Given the description of an element on the screen output the (x, y) to click on. 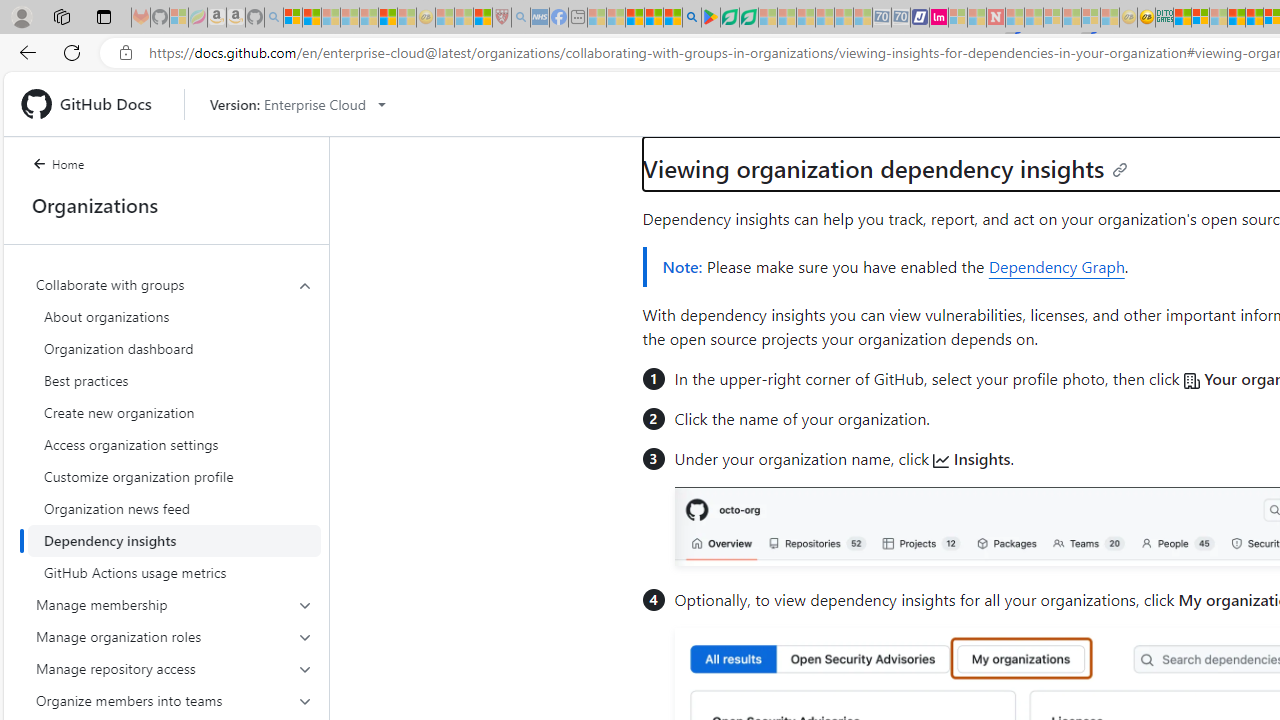
Best practices (174, 380)
About organizations (174, 316)
Terms of Use Agreement (729, 17)
Bluey: Let's Play! - Apps on Google Play (710, 17)
About organizations (174, 316)
